Given the description of an element on the screen output the (x, y) to click on. 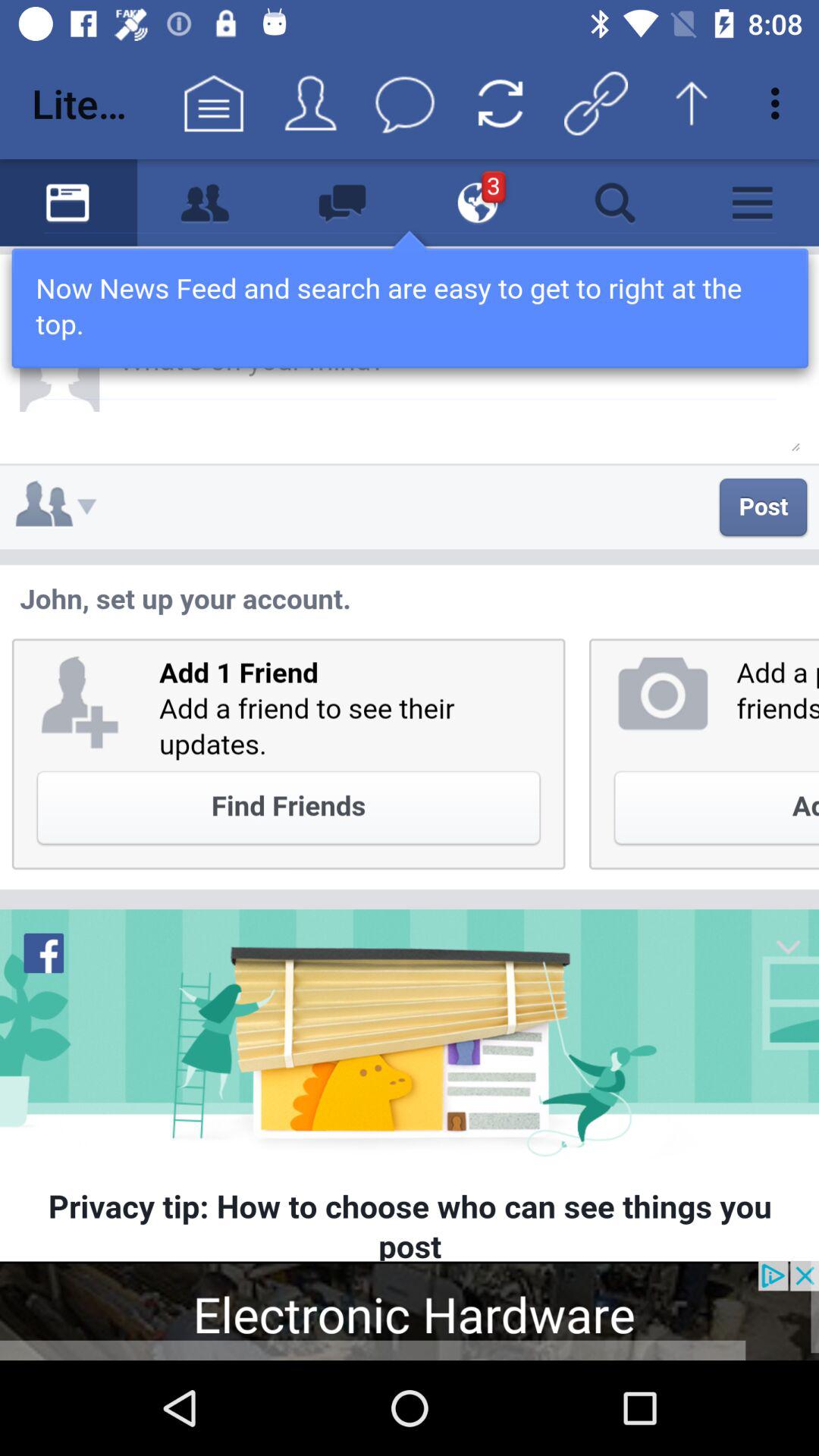
go to advert (409, 1310)
